Given the description of an element on the screen output the (x, y) to click on. 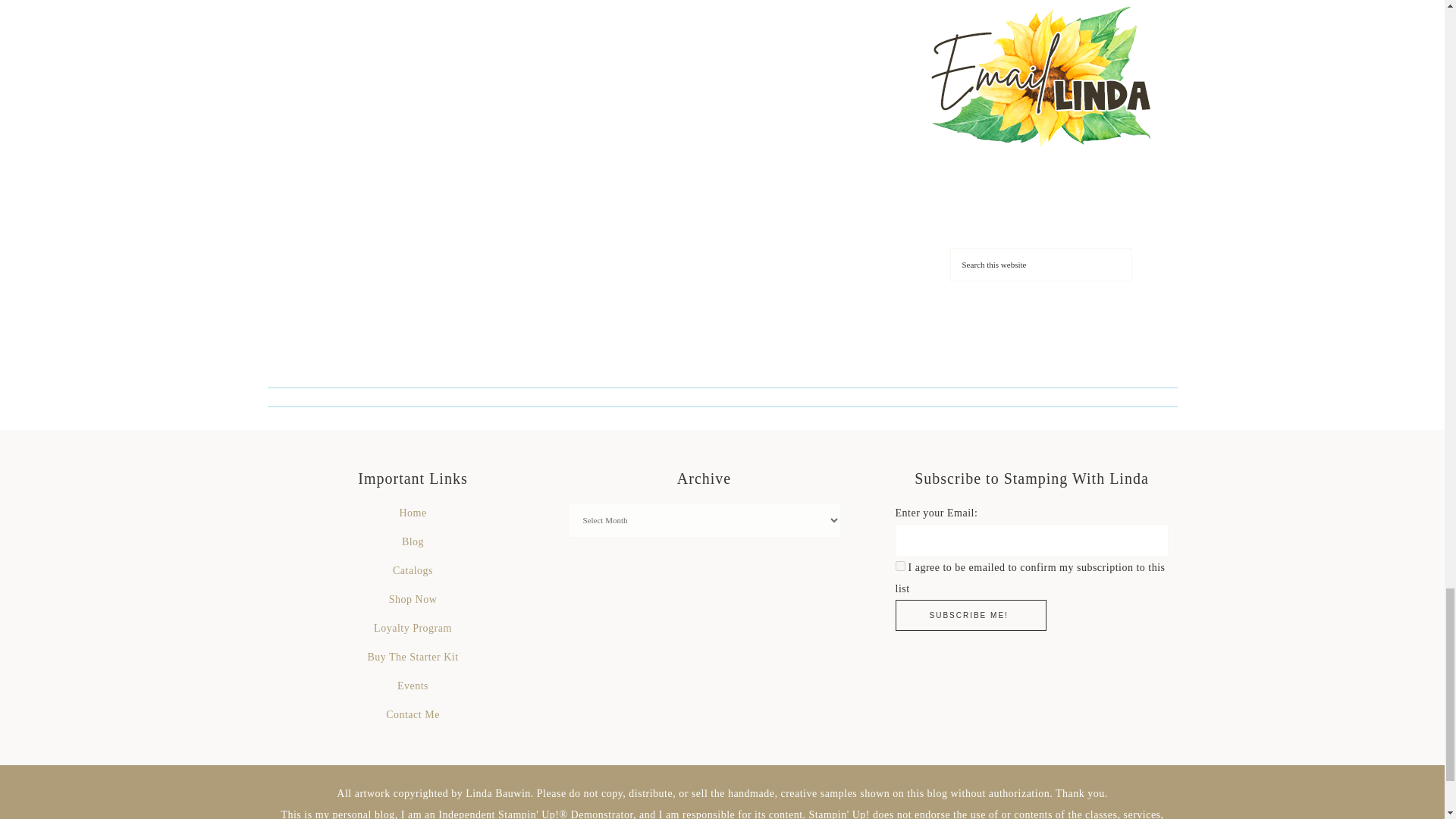
Subscribe me!  (970, 614)
on (899, 565)
